Given the description of an element on the screen output the (x, y) to click on. 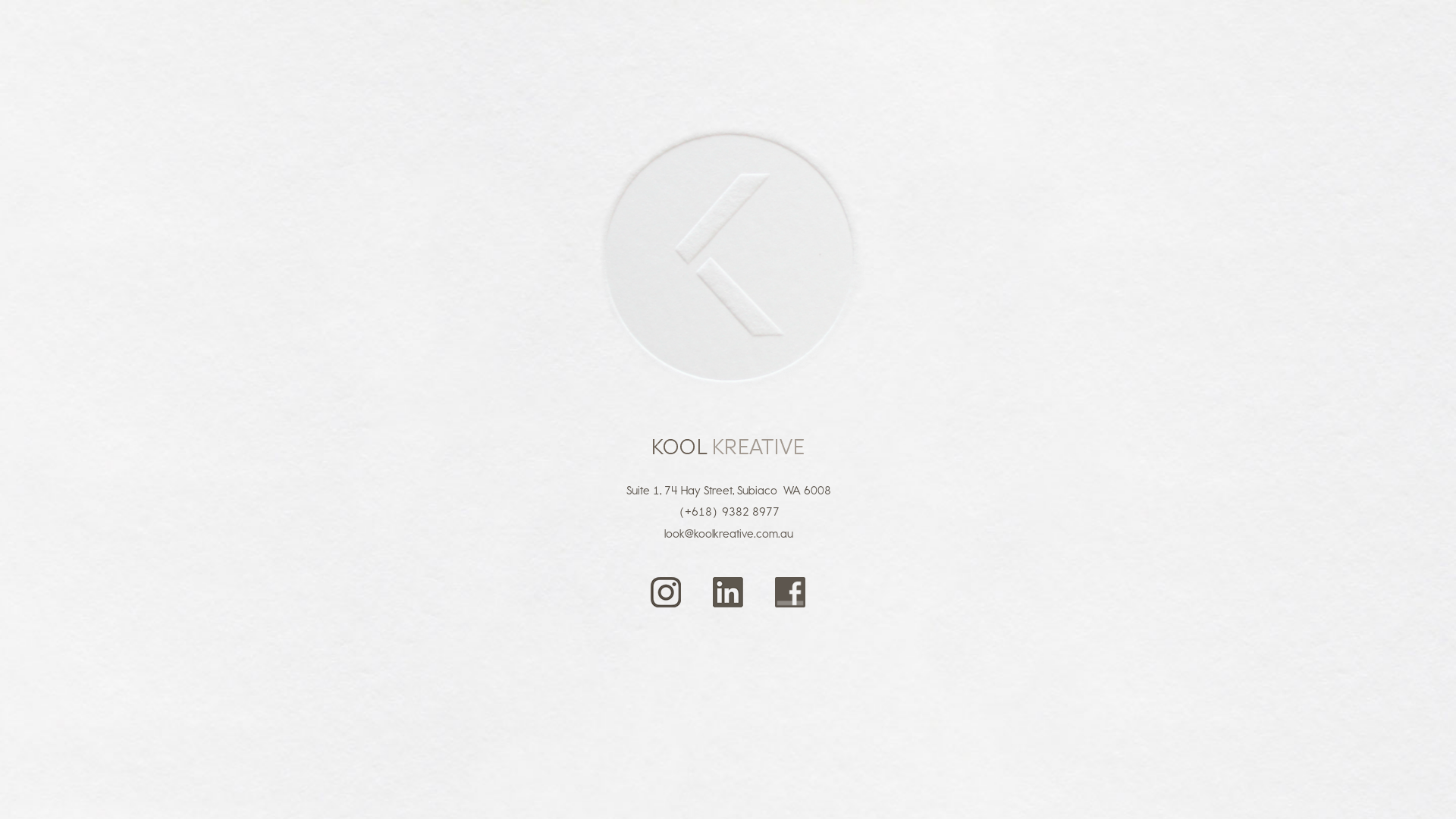
look@koolkreative.com.au Element type: text (728, 533)
